Given the description of an element on the screen output the (x, y) to click on. 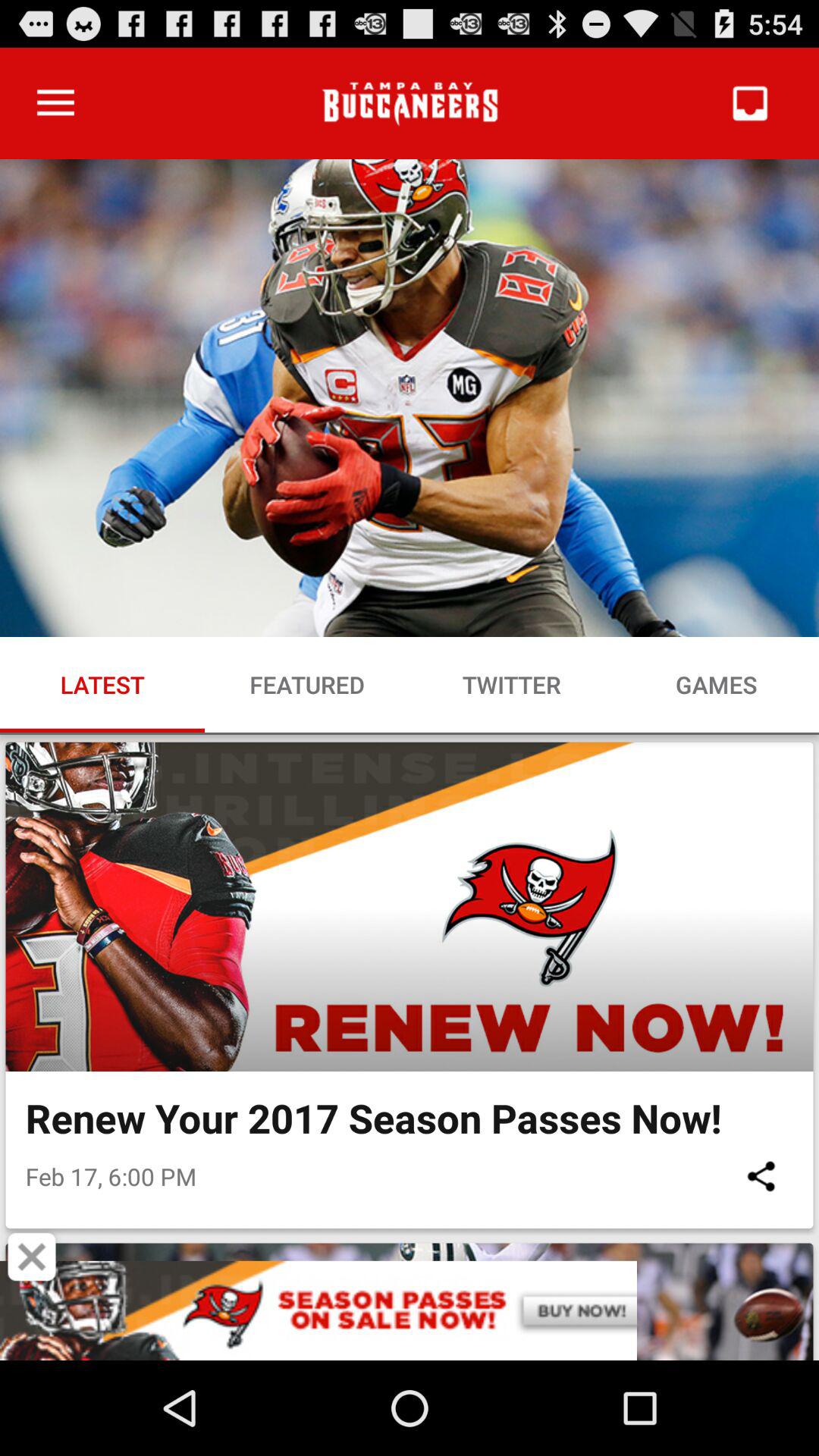
press icon to the right of feb 17 6 (761, 1176)
